Given the description of an element on the screen output the (x, y) to click on. 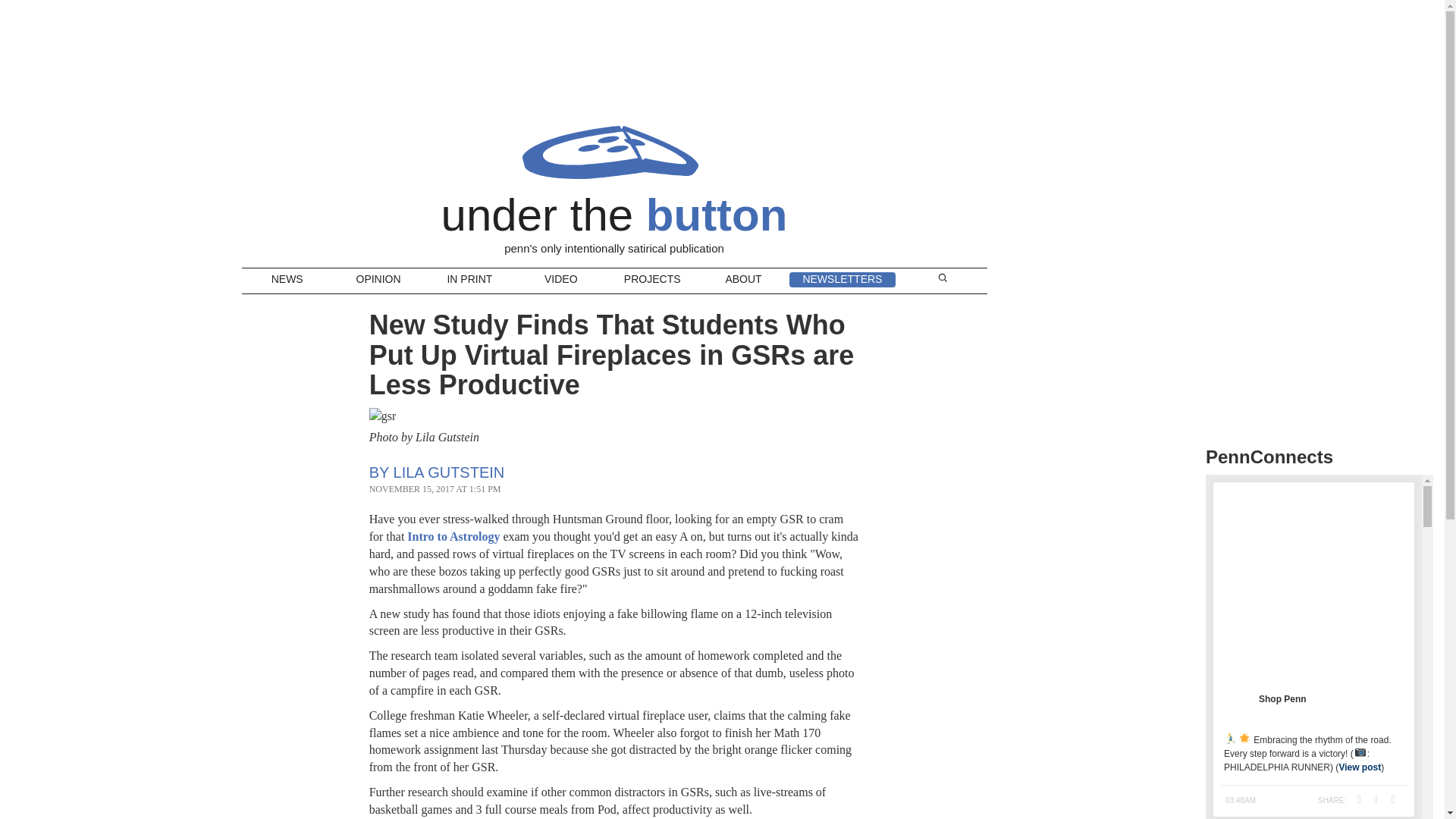
LILA GUTSTEIN (449, 472)
NEWS (286, 280)
NEWSLETTERS (842, 279)
3rd party ad content (1318, 117)
PROJECTS (652, 280)
Intro to Astrology (453, 535)
ABOUT (743, 280)
VIDEO (561, 280)
OPINION (378, 280)
IN PRINT (469, 280)
